Given the description of an element on the screen output the (x, y) to click on. 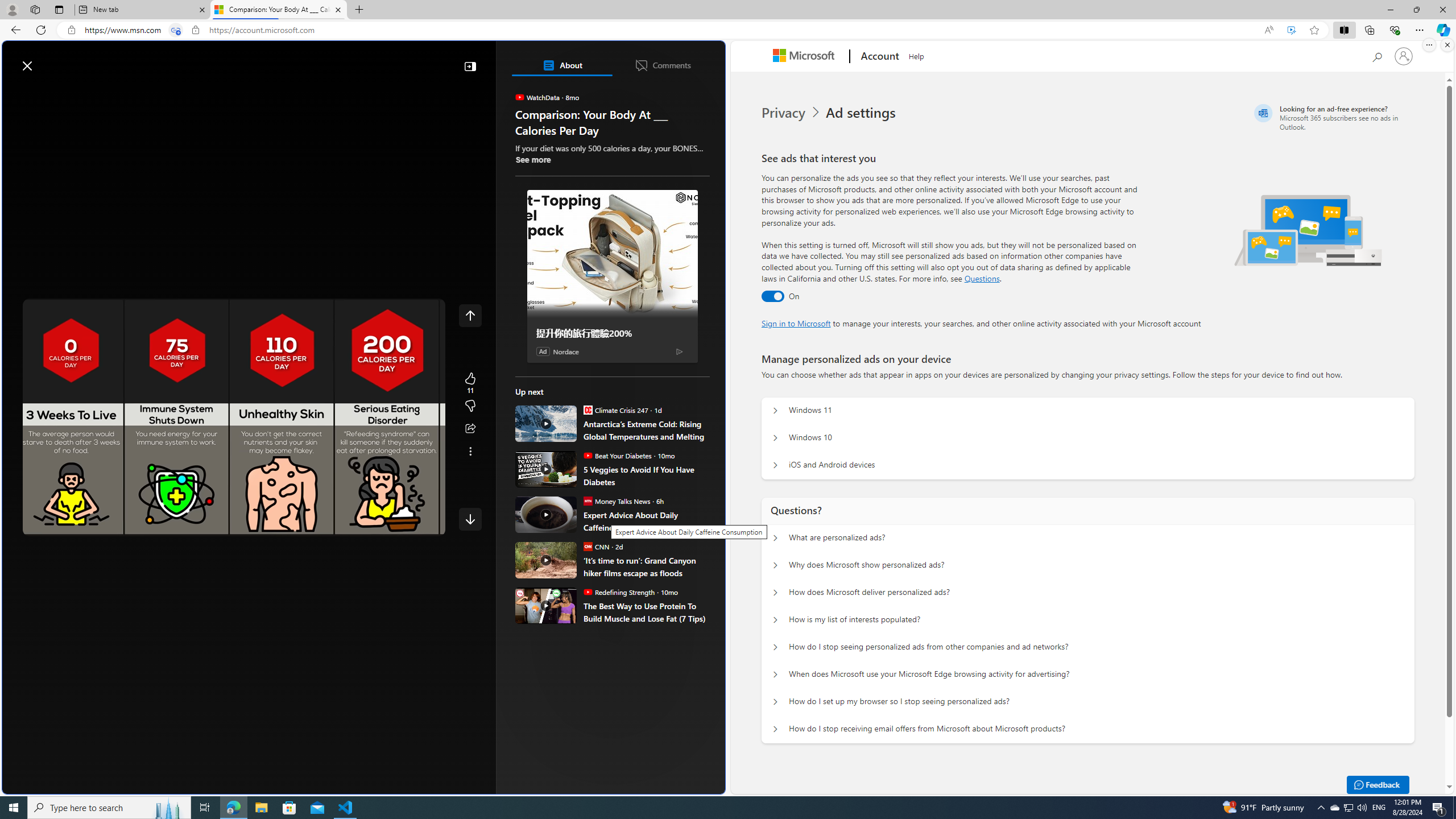
Privacy (784, 112)
Personal Profile (12, 9)
Nordace (566, 351)
Read aloud this page (Ctrl+Shift+U) (1268, 29)
Go to Questions section (981, 278)
Comparison: Your Body At ___ Calories Per Day (277, 9)
Collections (1369, 29)
Privacy (792, 112)
Help (915, 54)
Questions? How does Microsoft deliver personalized ads? (775, 592)
Enhance video (1291, 29)
Full screen (f) (427, 525)
